Given the description of an element on the screen output the (x, y) to click on. 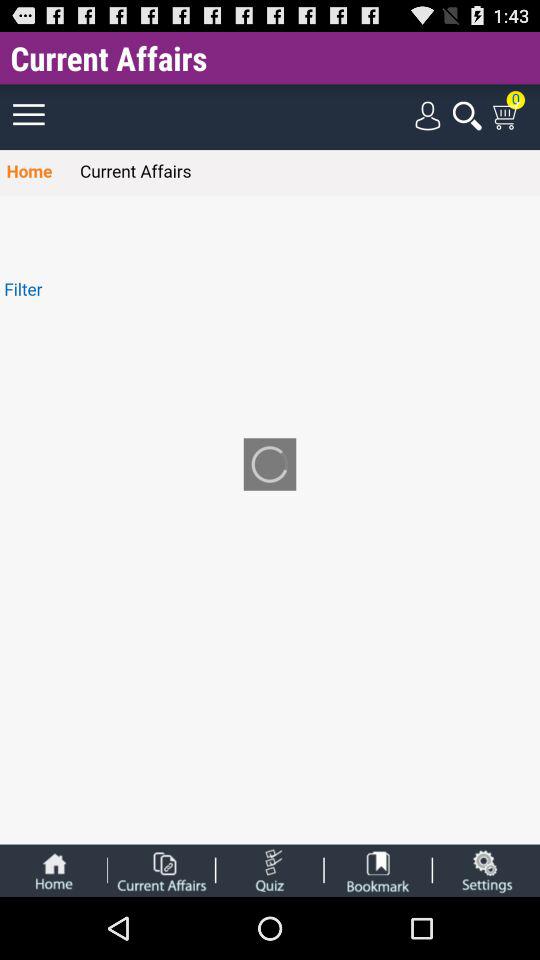
bookmark item (378, 870)
